Given the description of an element on the screen output the (x, y) to click on. 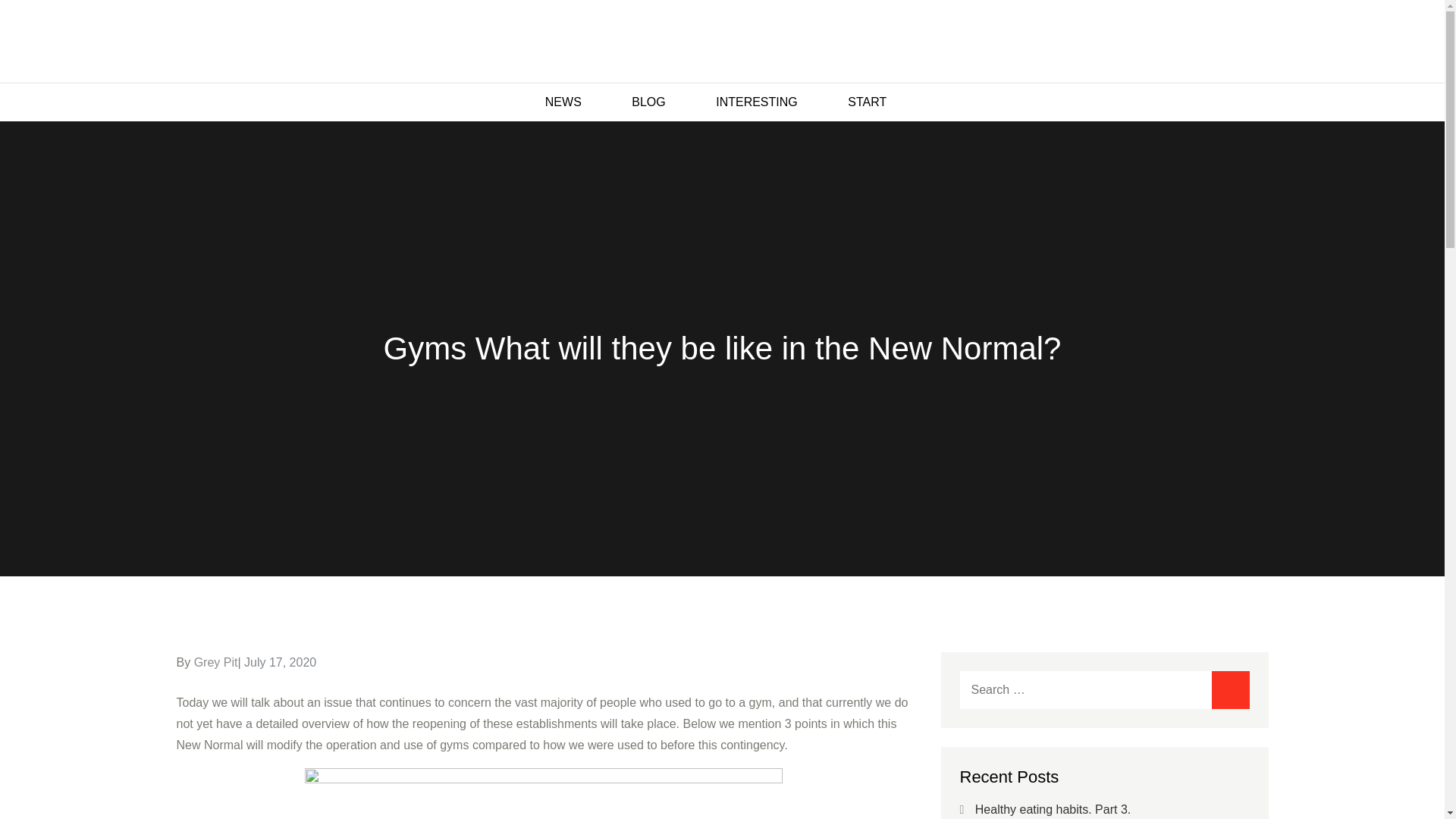
Grey Pit (215, 662)
July 17, 2020 (279, 662)
START (873, 102)
INTERESTING (762, 102)
BLOG (654, 102)
SEARCH (1230, 689)
NEWS (569, 102)
Healthy eating habits. Part 3. (1053, 809)
